Given the description of an element on the screen output the (x, y) to click on. 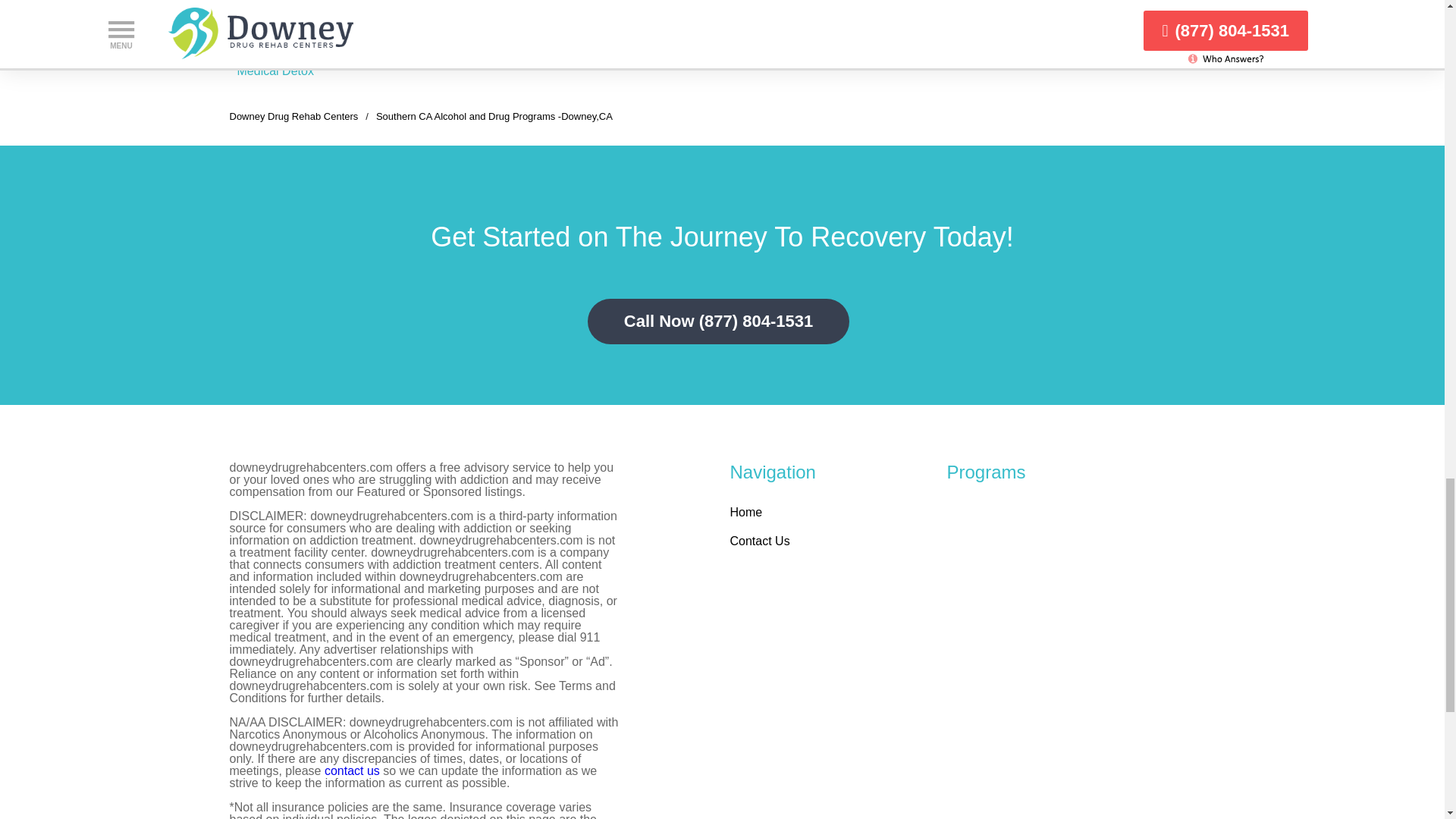
Contact Us (759, 540)
Male (446, 55)
Southern CA Alcohol and Drug Programs -Downey,CA (493, 116)
Female (453, 40)
Medical Detox (274, 70)
Adolescents (385, 40)
Downey Drug Rehab Centers (293, 116)
Private (644, 40)
American Express (548, 55)
Medicaid (650, 55)
Addiction (260, 40)
contact us (352, 770)
Intervention center (286, 55)
Home (745, 512)
Visa (510, 40)
